Given the description of an element on the screen output the (x, y) to click on. 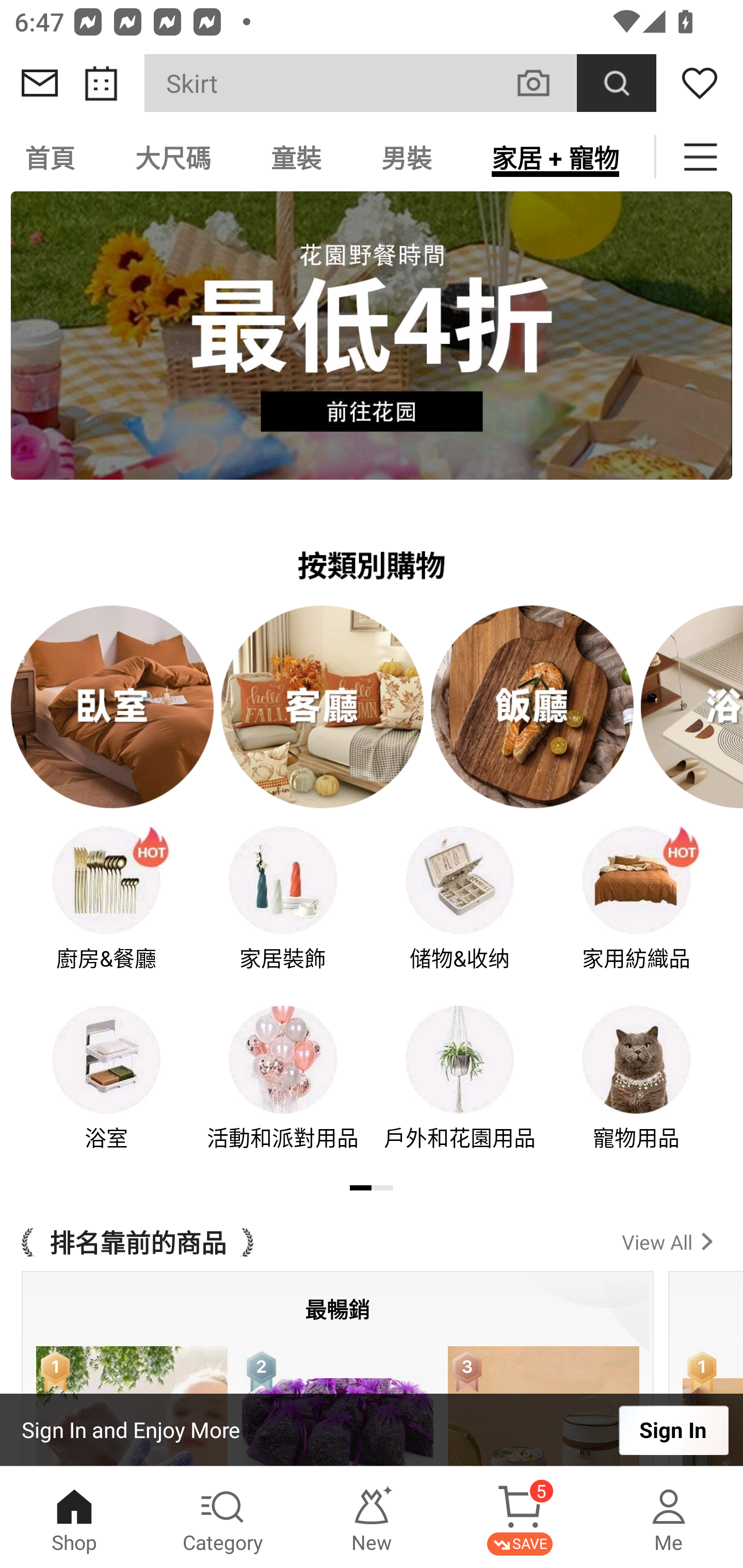
Wishlist (699, 82)
VISUAL SEARCH (543, 82)
首頁 (52, 156)
大尺碼 (172, 156)
童裝 (295, 156)
男裝 (406, 156)
家居 + 寵物 (555, 156)
廚房&餐廳 (105, 912)
家居裝飾 (282, 912)
储物&收纳 (459, 912)
家用紡織品 (636, 912)
浴室 (105, 1091)
活動和派對用品 (282, 1091)
戶外和花園用品 (459, 1091)
寵物用品 (636, 1091)
Sign In and Enjoy More Sign In (371, 1429)
Category (222, 1517)
New (371, 1517)
Cart 5 SAVE (519, 1517)
Me (668, 1517)
